Given the description of an element on the screen output the (x, y) to click on. 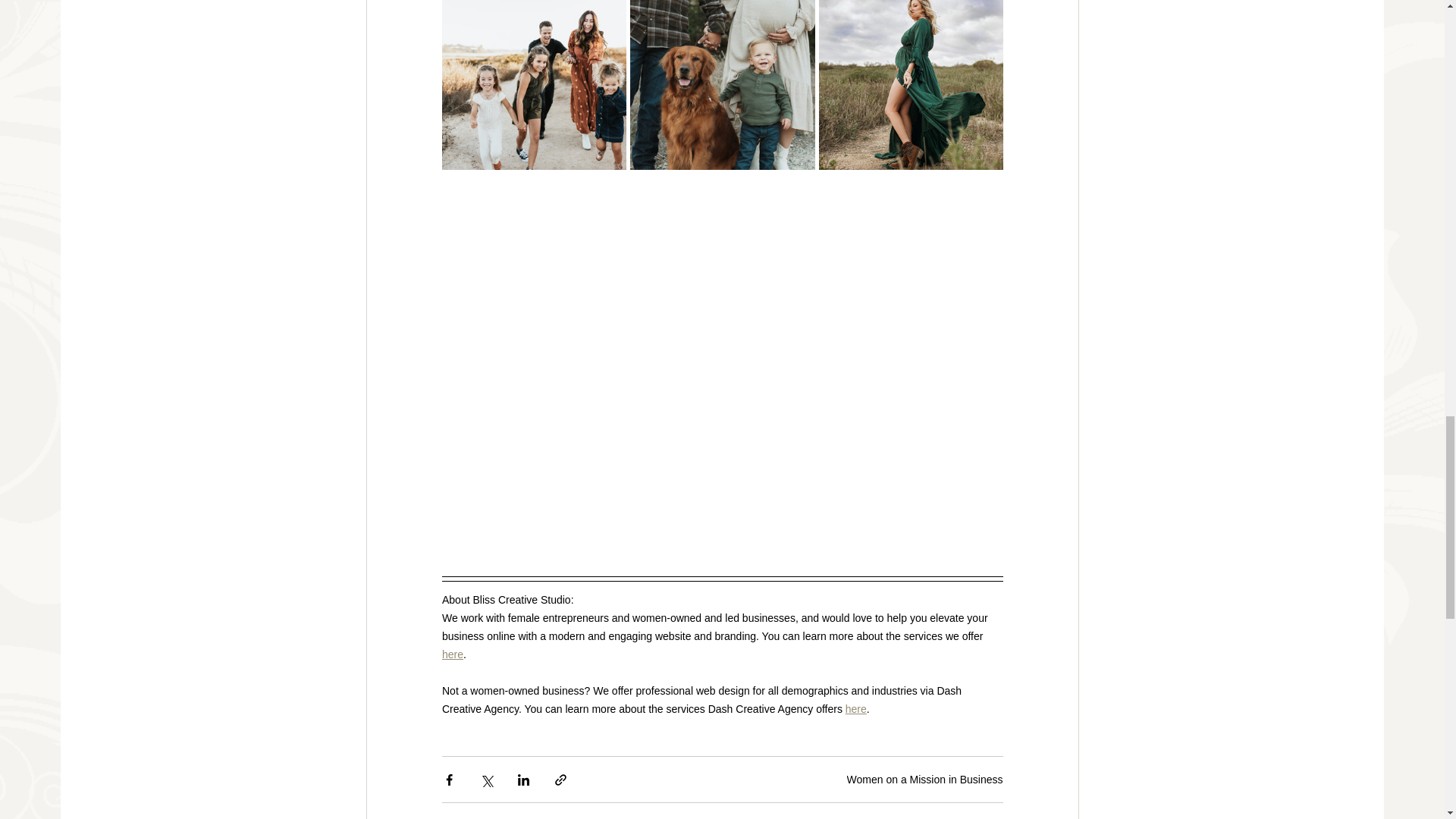
Women on a Mission in Business (925, 779)
here (855, 707)
here (990, 818)
